Given the description of an element on the screen output the (x, y) to click on. 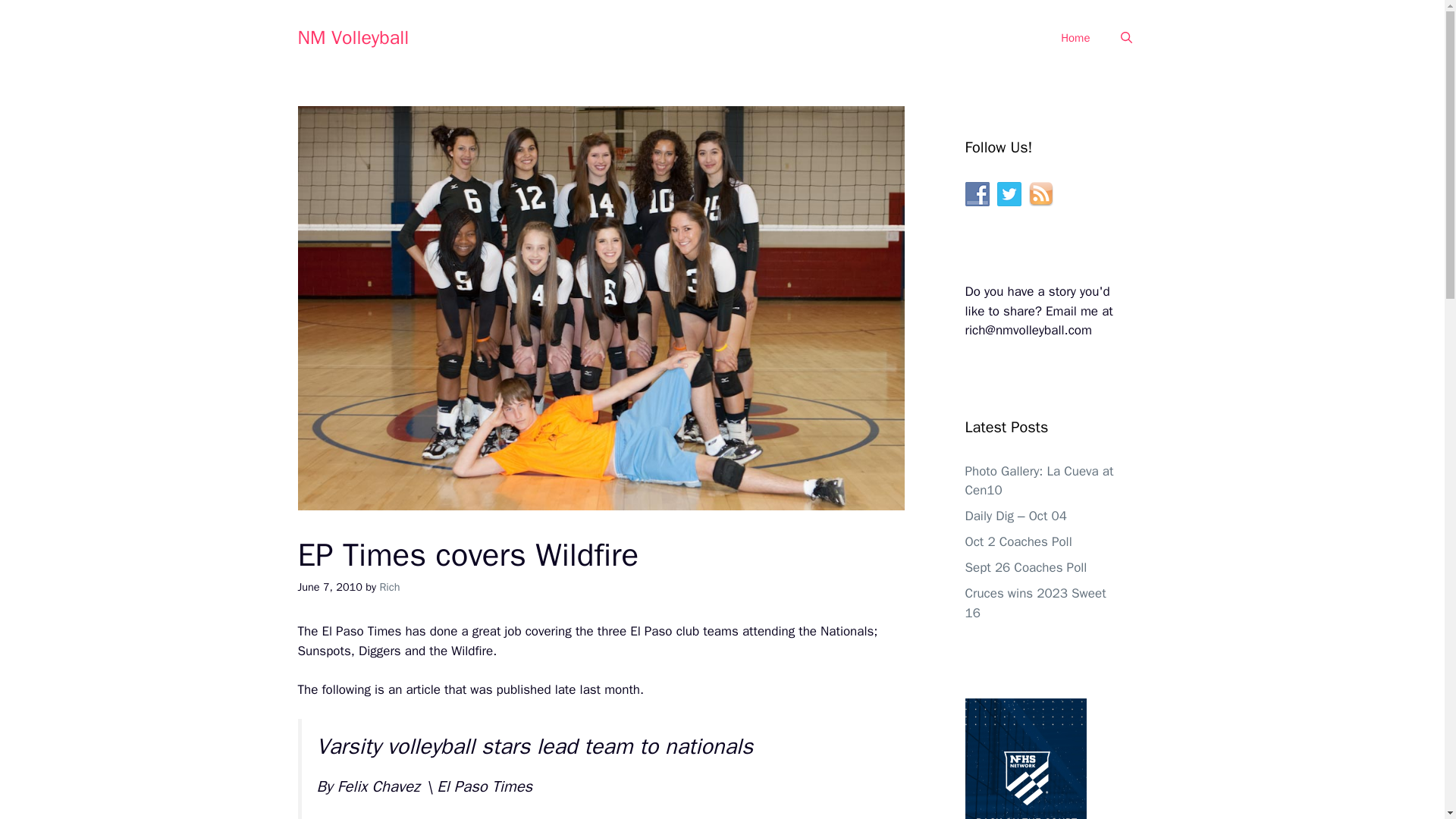
Rich (388, 586)
NM Volleyball (353, 37)
Photo Gallery: La Cueva at Cen10 (1038, 479)
Sept 26 Coaches Poll (1024, 567)
Home (1075, 37)
View all posts by Rich (388, 586)
Follow Us on RSS (1039, 193)
Follow Us on Facebook (975, 193)
Follow Us on Twitter (1007, 193)
Cruces wins 2023 Sweet 16 (1034, 602)
Oct 2 Coaches Poll (1017, 541)
